Given the description of an element on the screen output the (x, y) to click on. 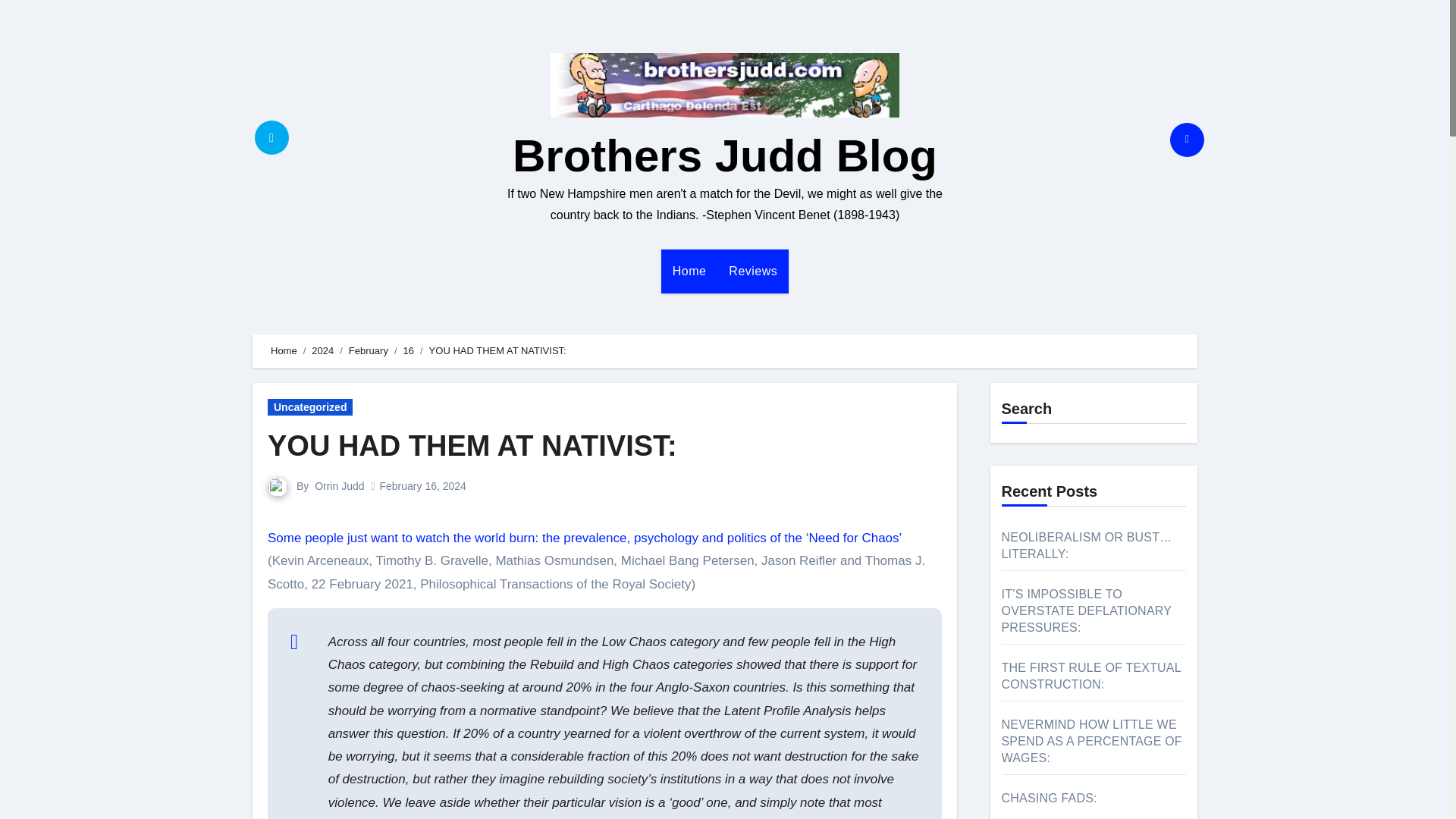
Reviews (753, 271)
Orrin Judd (339, 485)
Brothers Judd Blog (724, 155)
February (368, 350)
Reviews (753, 271)
YOU HAD THEM AT NATIVIST: (472, 445)
16 (408, 350)
Uncategorized (309, 406)
2024 (322, 350)
Permalink to: YOU HAD THEM AT NATIVIST: (472, 445)
